Given the description of an element on the screen output the (x, y) to click on. 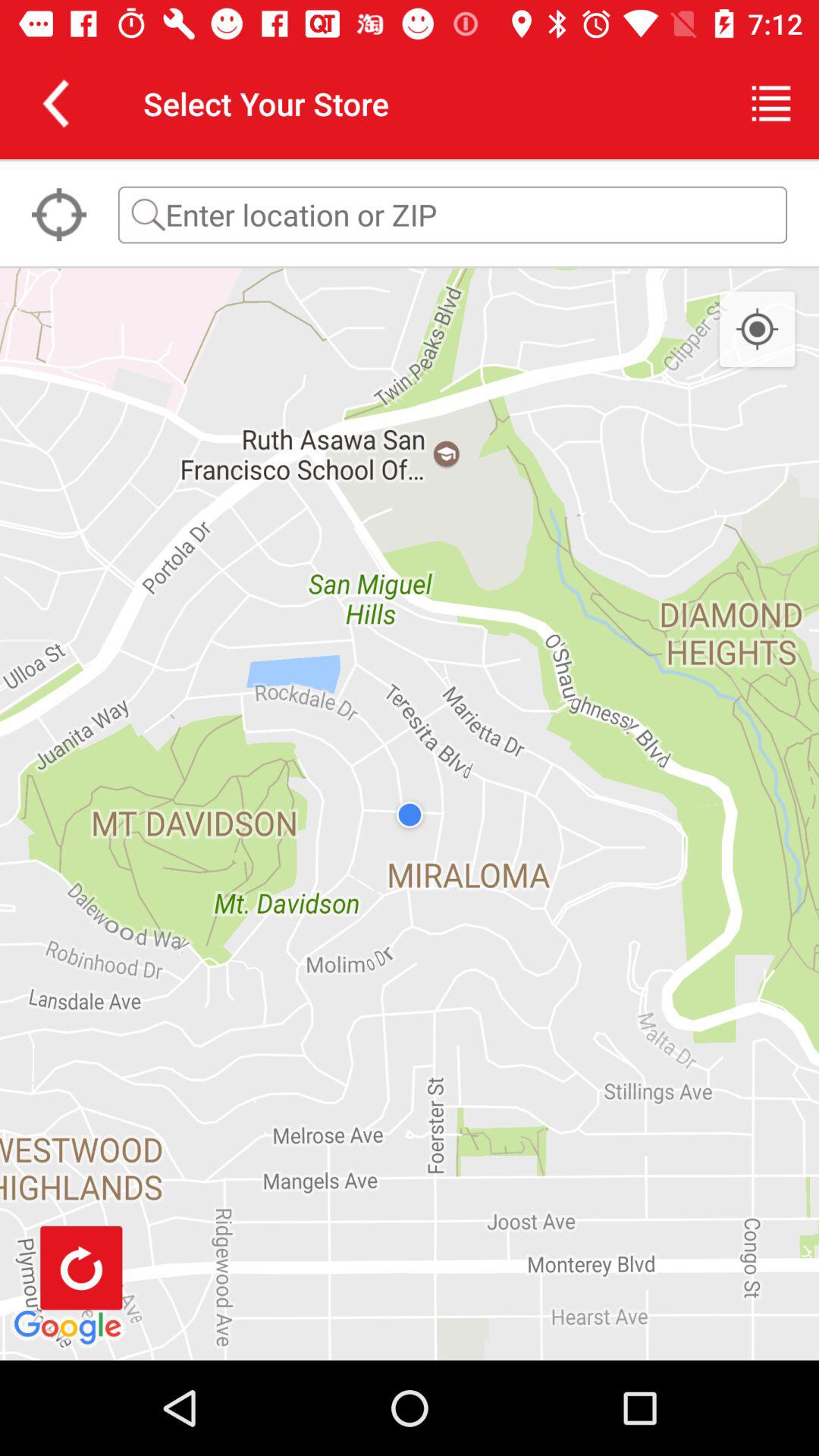
turn on item at the center (409, 814)
